Given the description of an element on the screen output the (x, y) to click on. 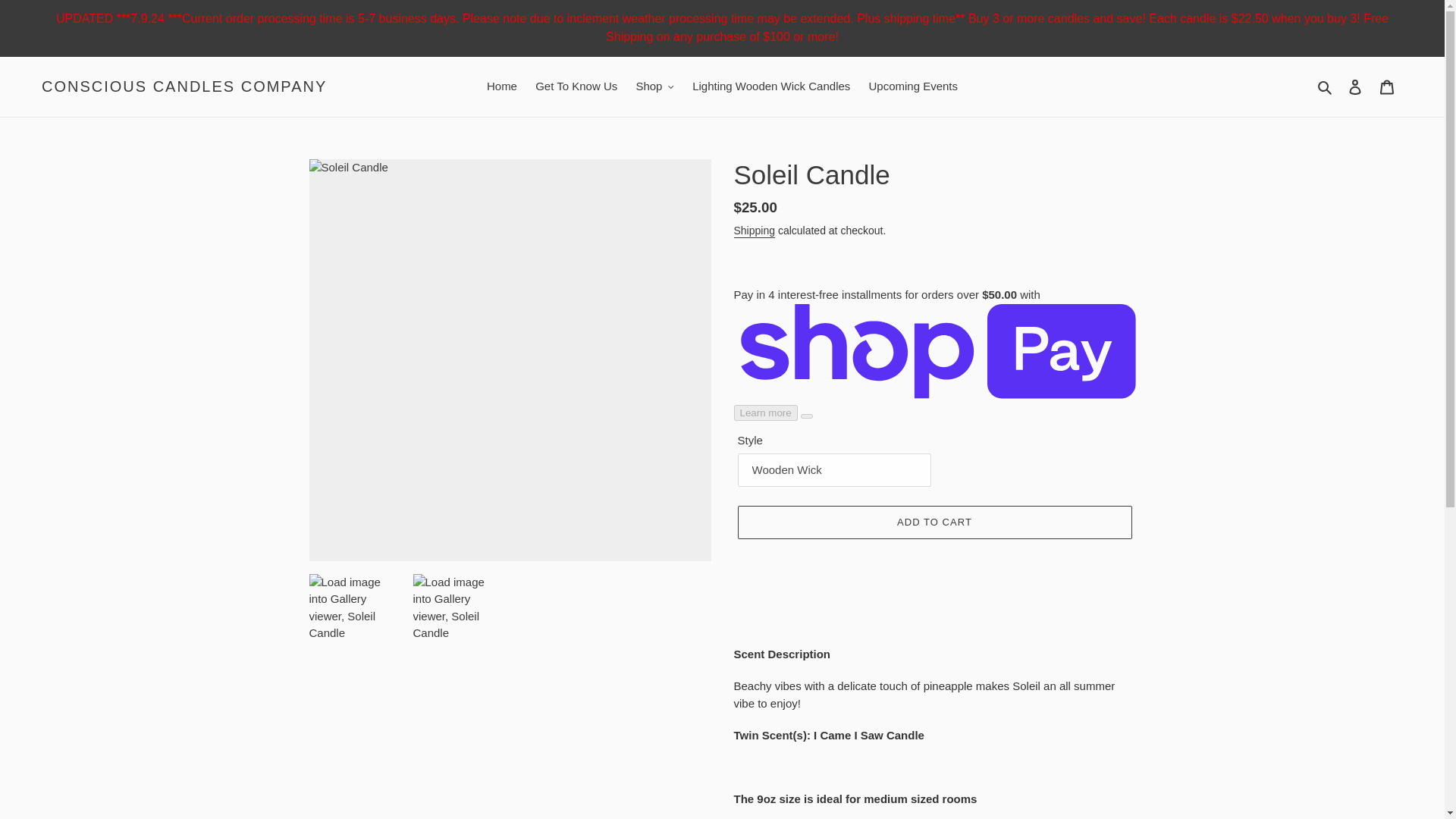
ADD TO CART (933, 522)
Upcoming Events (912, 86)
Shipping (754, 231)
Lighting Wooden Wick Candles (770, 86)
Log in (1355, 86)
Shop (654, 86)
Get To Know Us (575, 86)
CONSCIOUS CANDLES COMPANY (184, 85)
Home (501, 86)
Cart (1387, 86)
